Given the description of an element on the screen output the (x, y) to click on. 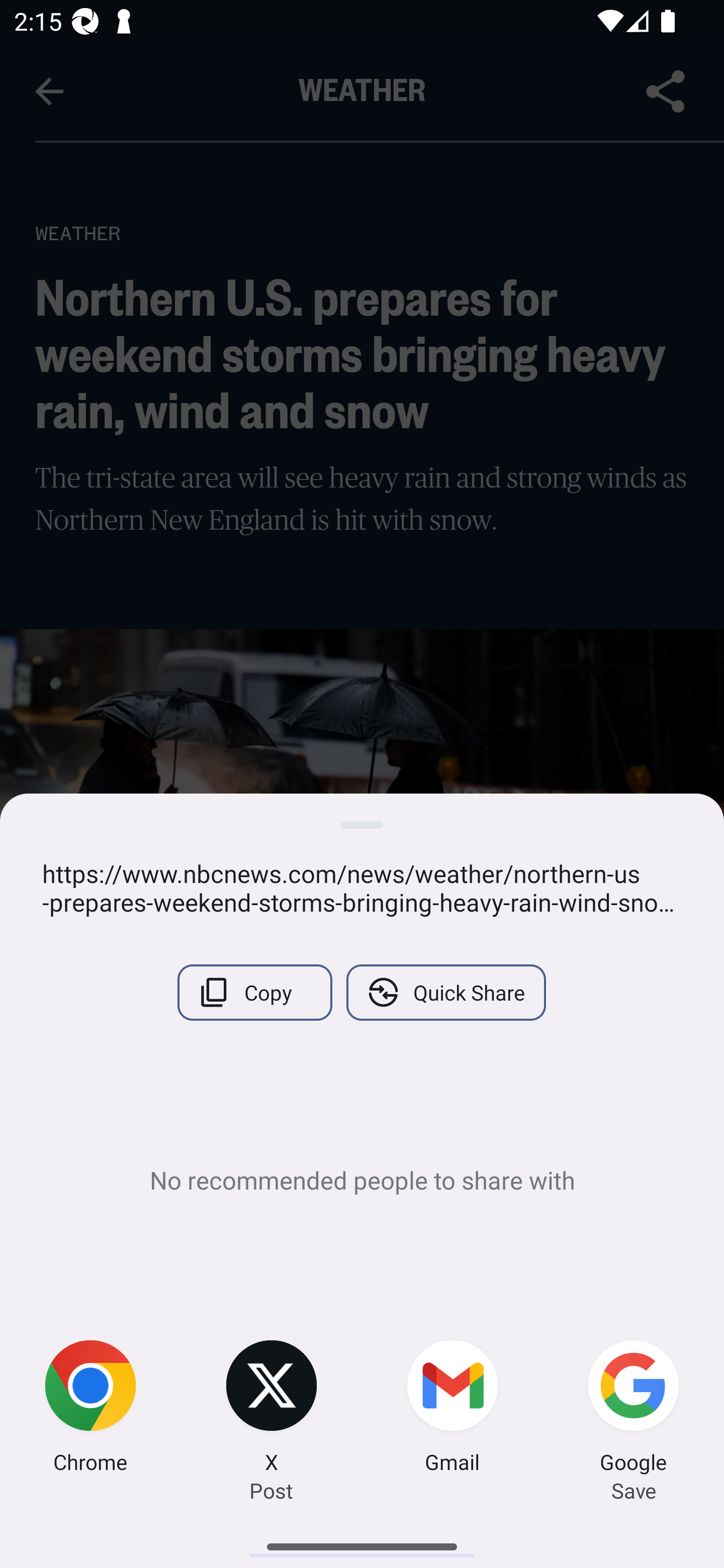
Copy (254, 992)
Quick Share (445, 992)
Chrome (90, 1409)
X Post (271, 1409)
Gmail (452, 1409)
Google Save (633, 1409)
